Given the description of an element on the screen output the (x, y) to click on. 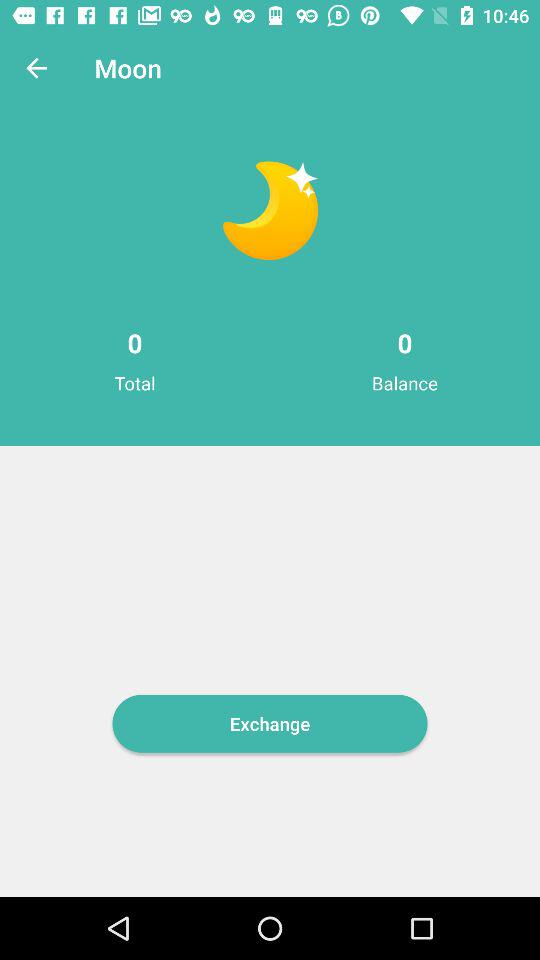
jump to exchange (269, 723)
